Given the description of an element on the screen output the (x, y) to click on. 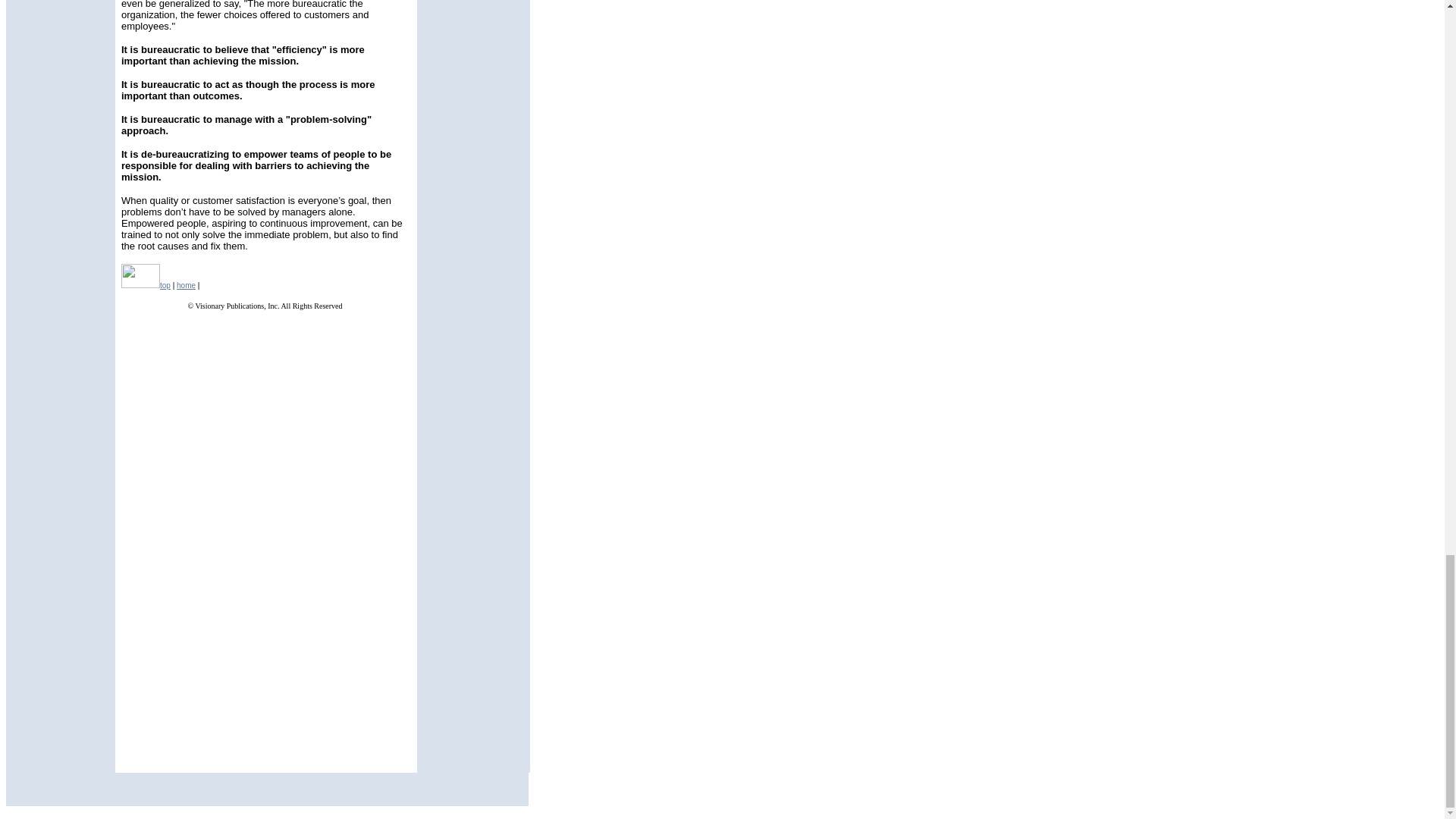
home (185, 285)
top (165, 285)
